Given the description of an element on the screen output the (x, y) to click on. 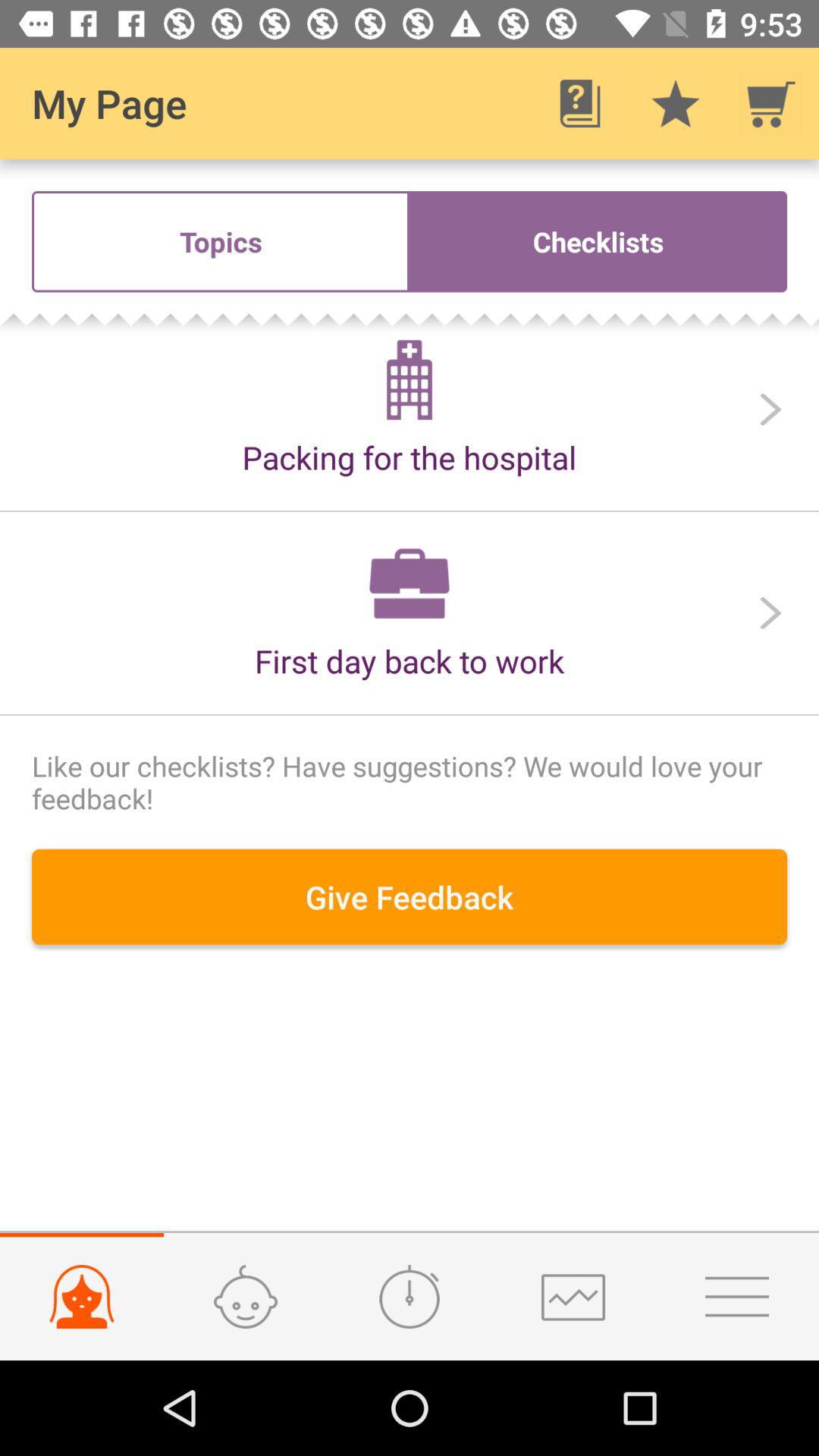
turn on item to the right of the my page icon (579, 103)
